Given the description of an element on the screen output the (x, y) to click on. 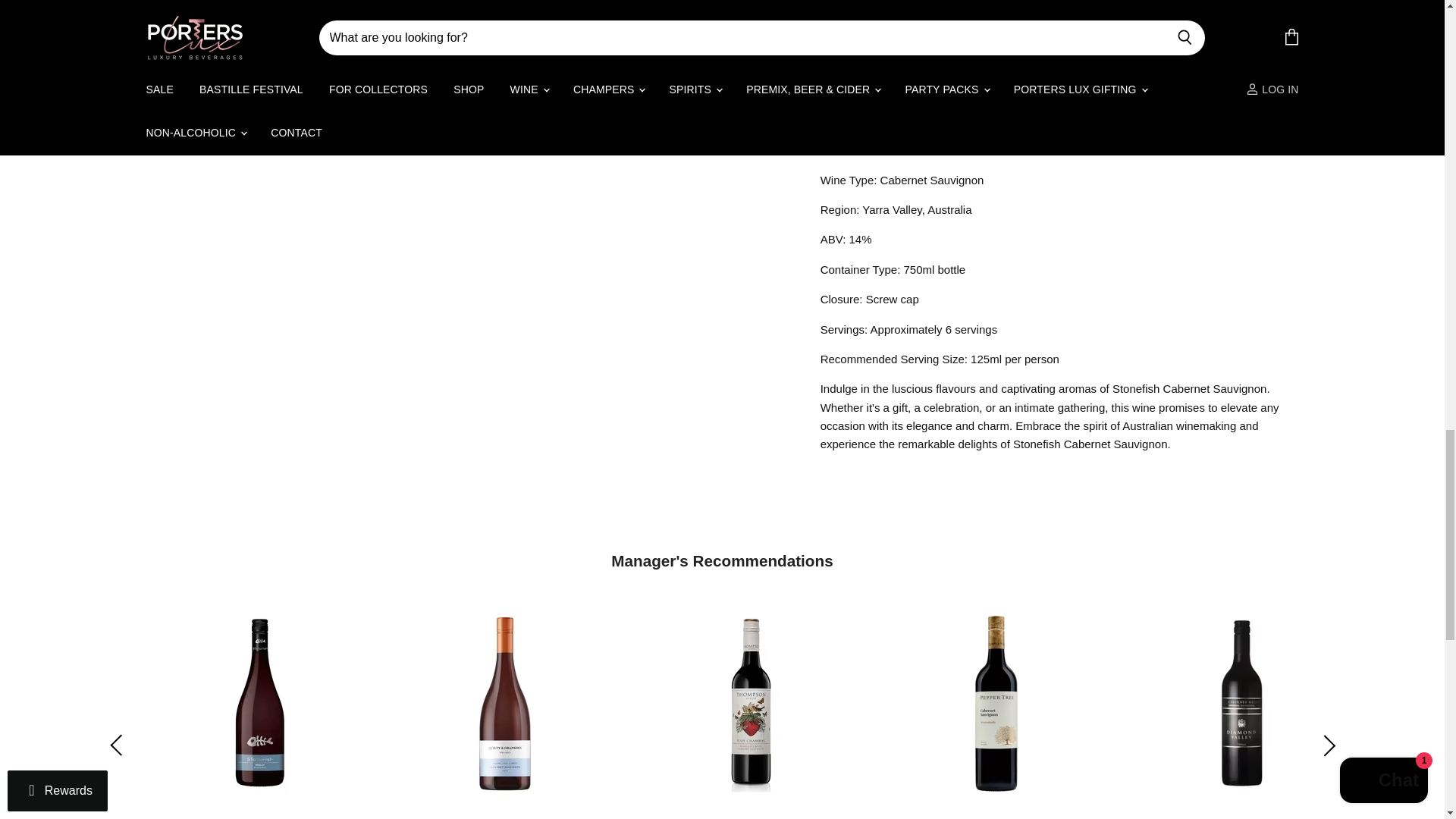
Manager's Recommendations (721, 560)
